Given the description of an element on the screen output the (x, y) to click on. 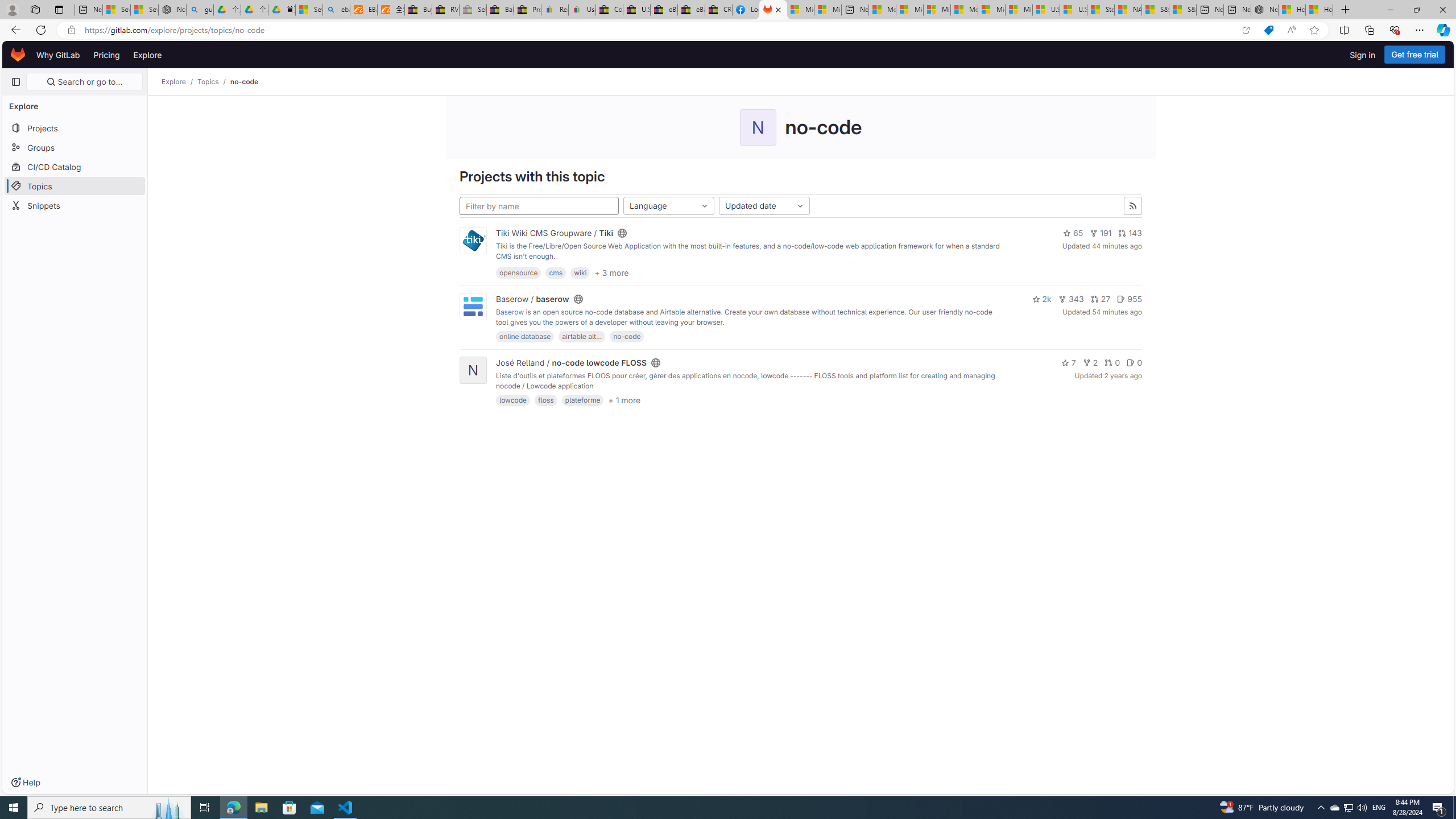
Why GitLab (58, 54)
Subscribe to the new projects feed (1132, 205)
no-code (626, 336)
Pricing (106, 54)
Class: project (473, 307)
Log into Facebook (746, 9)
Primary navigation sidebar (15, 81)
+ 3 more (611, 271)
Consumer Health Data Privacy Policy - eBay Inc. (609, 9)
